Given the description of an element on the screen output the (x, y) to click on. 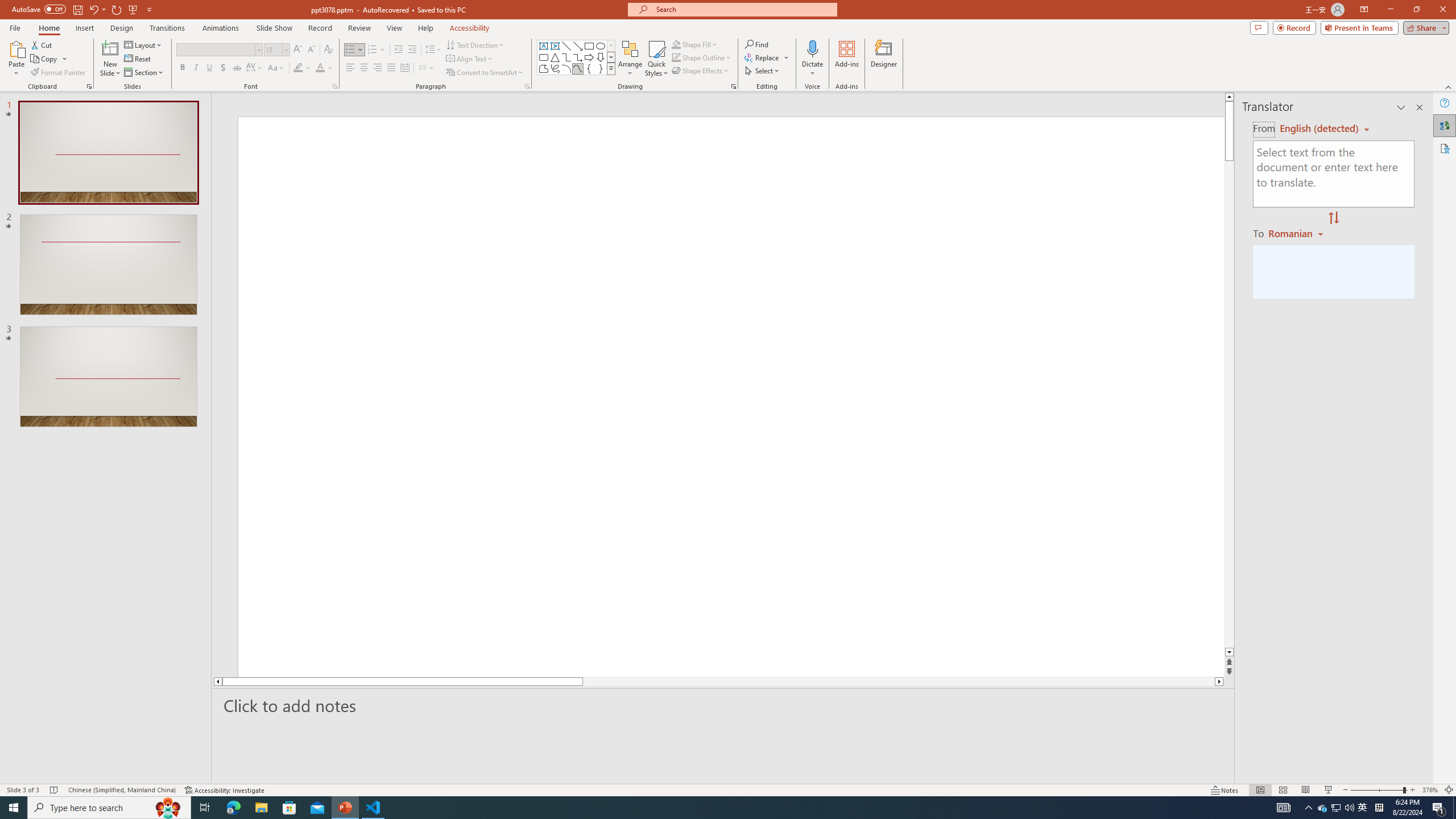
Reset (138, 58)
Shape Outline Green, Accent 1 (675, 56)
Font... (334, 85)
Decrease Font Size (310, 49)
